Given the description of an element on the screen output the (x, y) to click on. 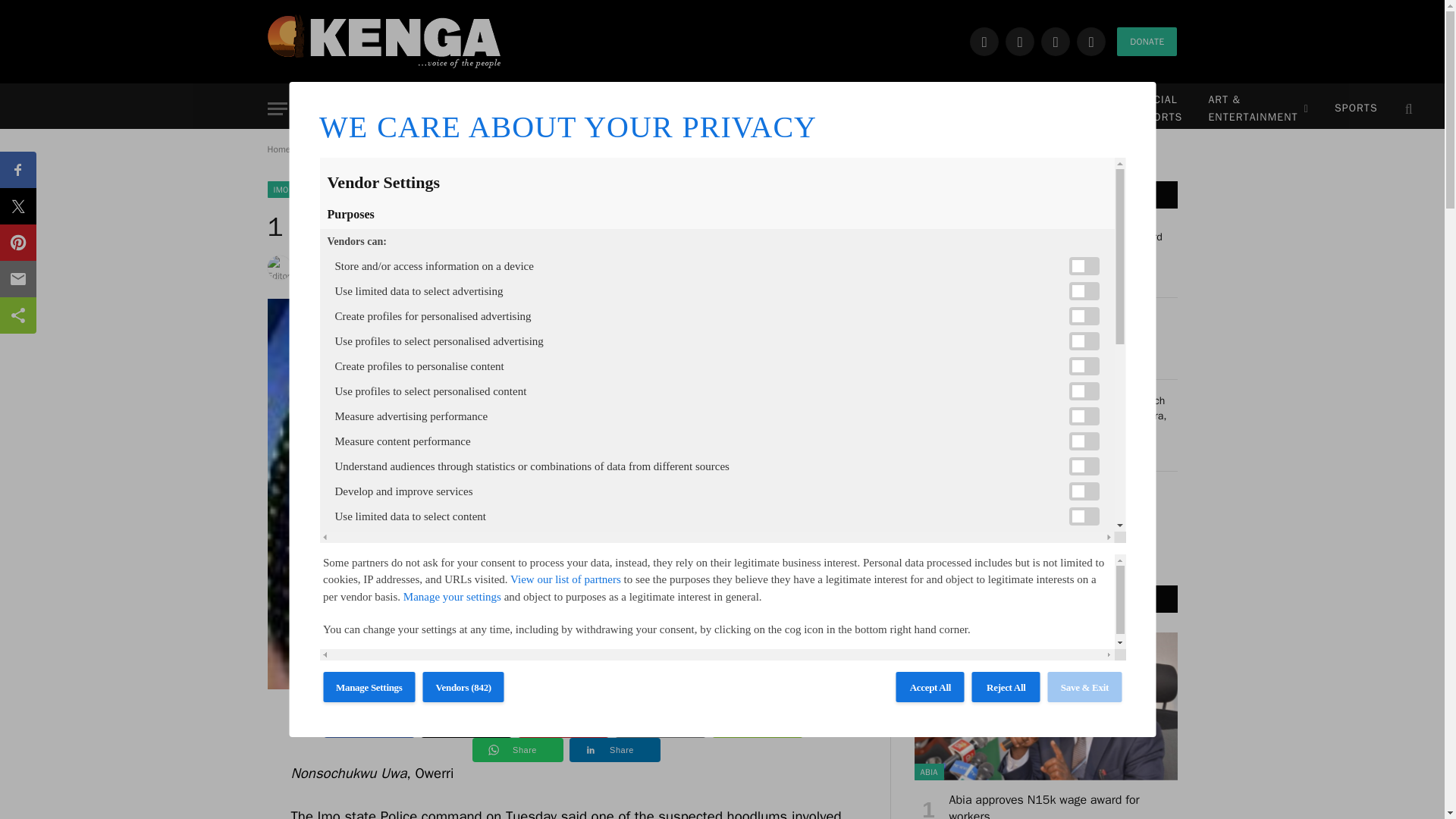
NEWS (412, 108)
Facebook (983, 41)
YouTube (1091, 41)
DONATE (1146, 41)
Ikenga Online (383, 41)
HOME (342, 108)
Twitter (1019, 41)
Instagram (1055, 41)
